Given the description of an element on the screen output the (x, y) to click on. 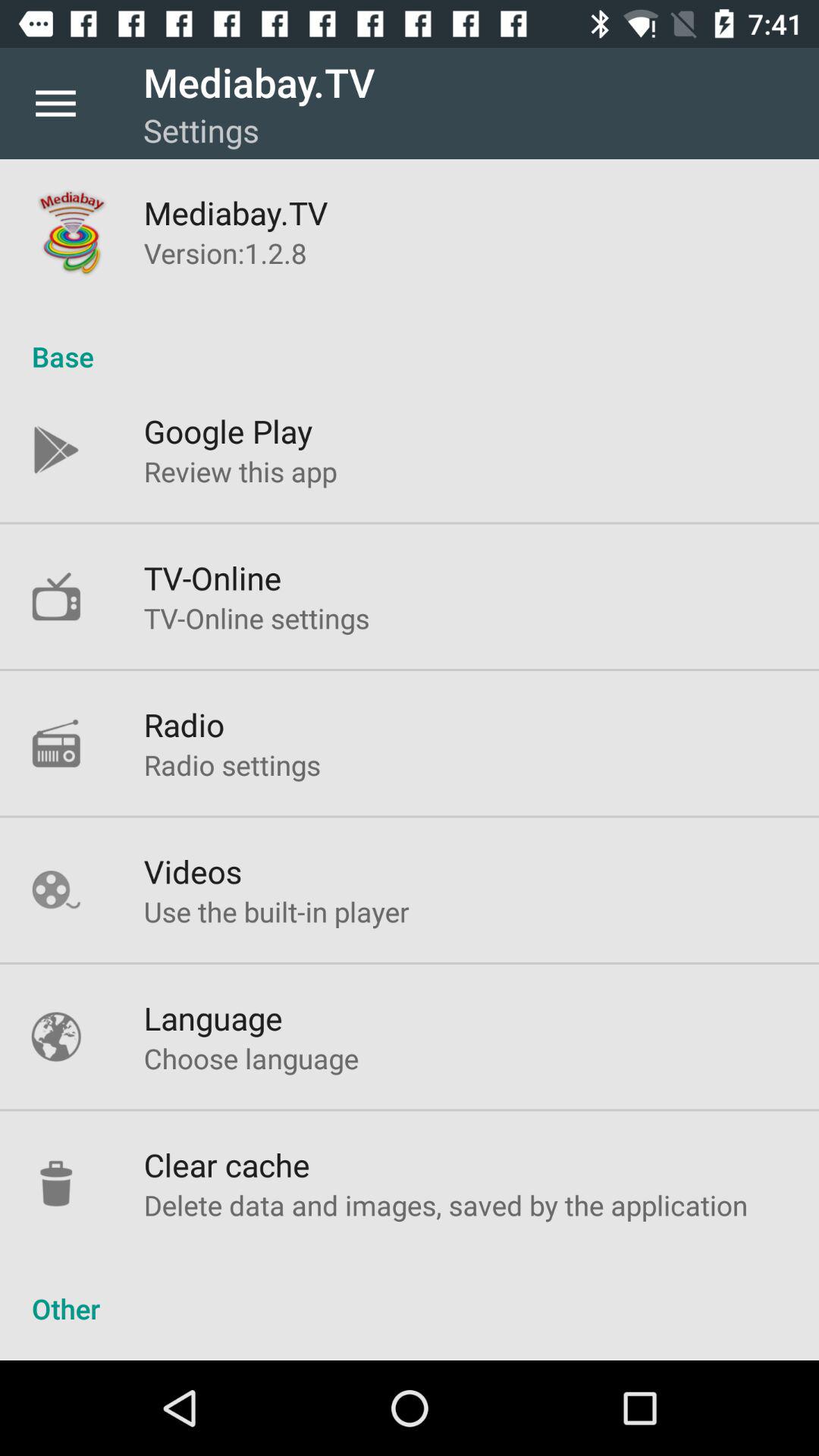
tap google play (227, 430)
